Given the description of an element on the screen output the (x, y) to click on. 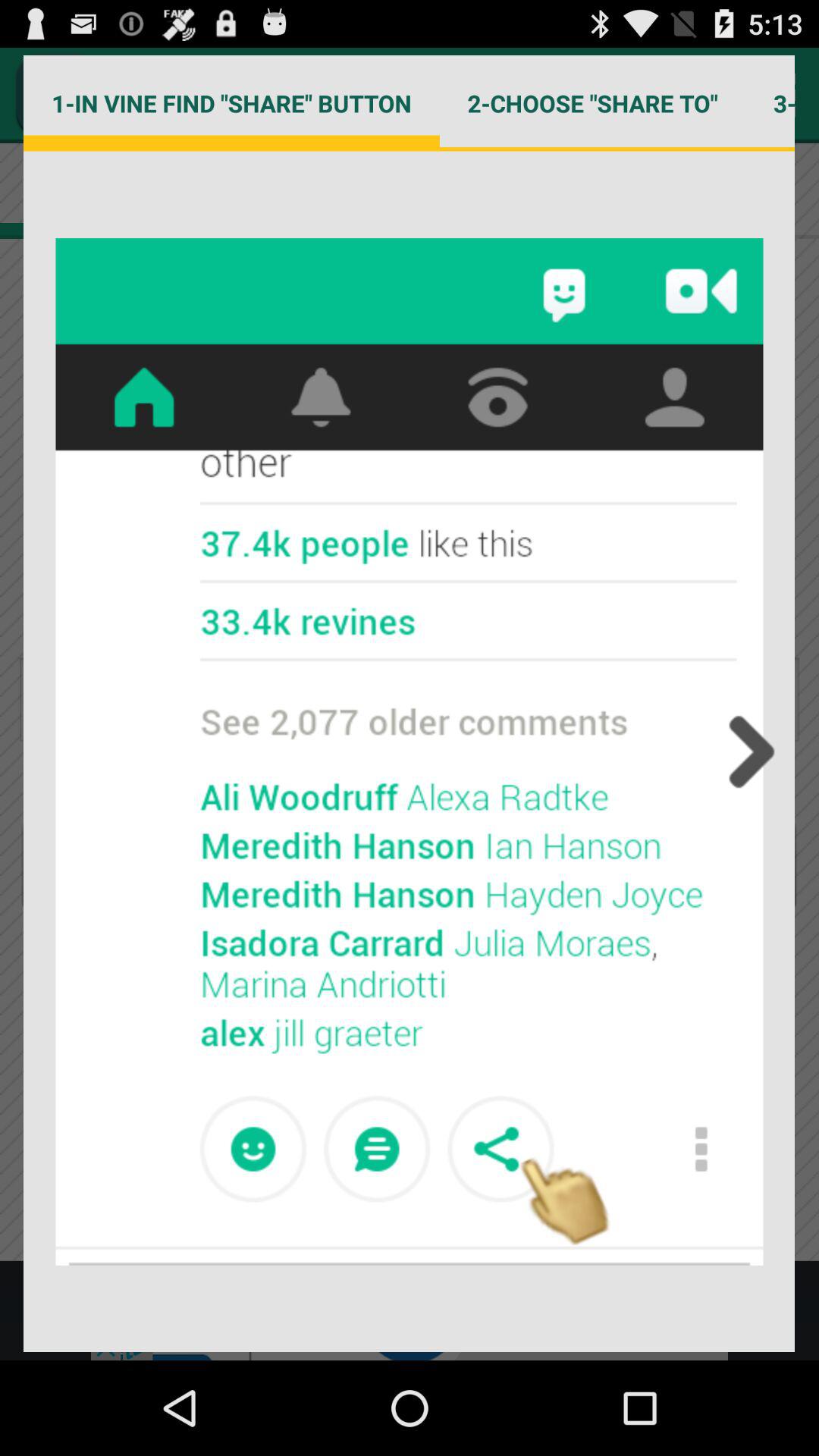
go to previous button (747, 751)
